Given the description of an element on the screen output the (x, y) to click on. 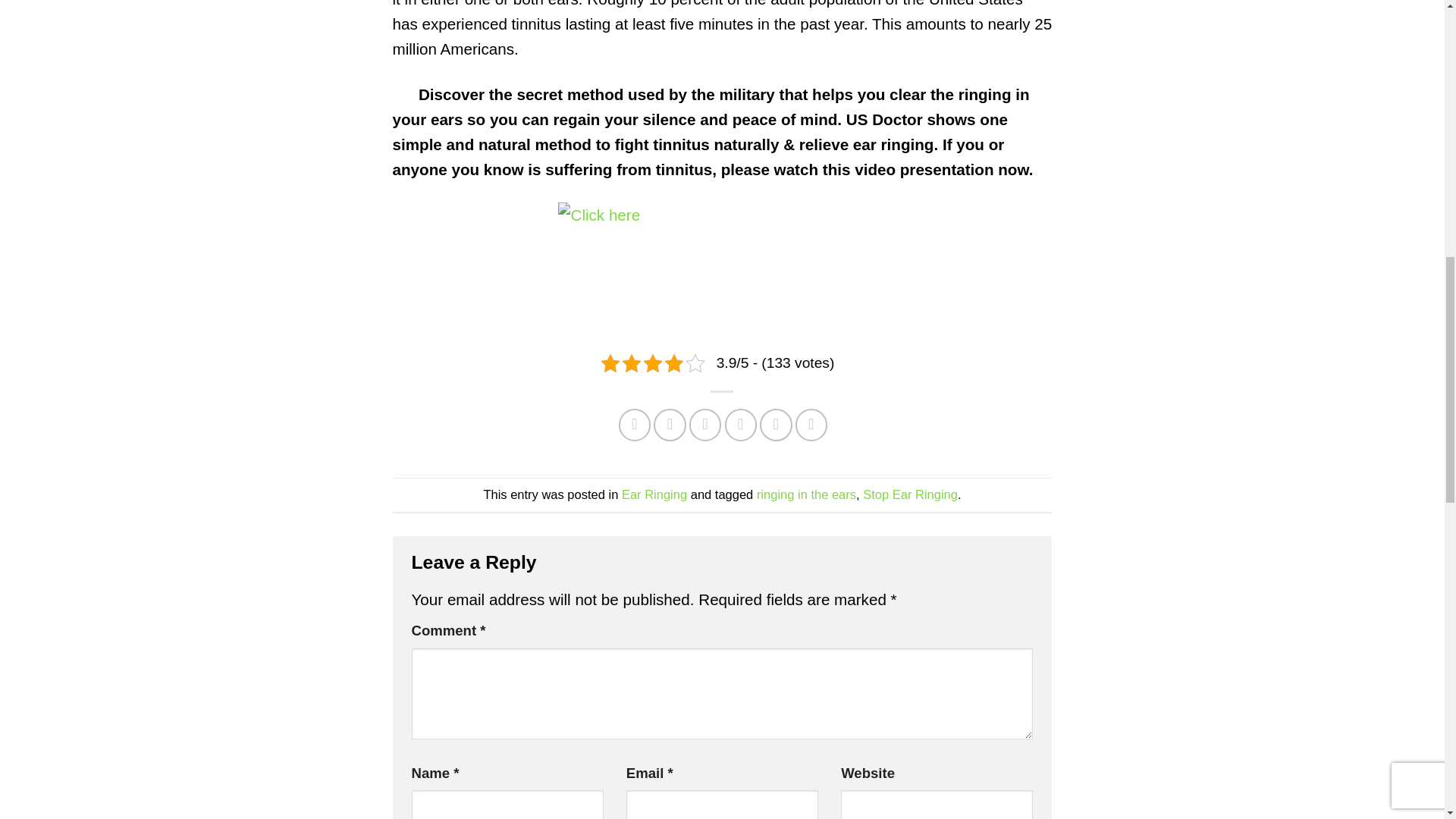
Share on Facebook (634, 424)
Share on Twitter (669, 424)
Ear Ringing (654, 494)
Pin on Pinterest (705, 424)
ringing in the ears (806, 494)
Stop Ear Ringing (910, 494)
